Given the description of an element on the screen output the (x, y) to click on. 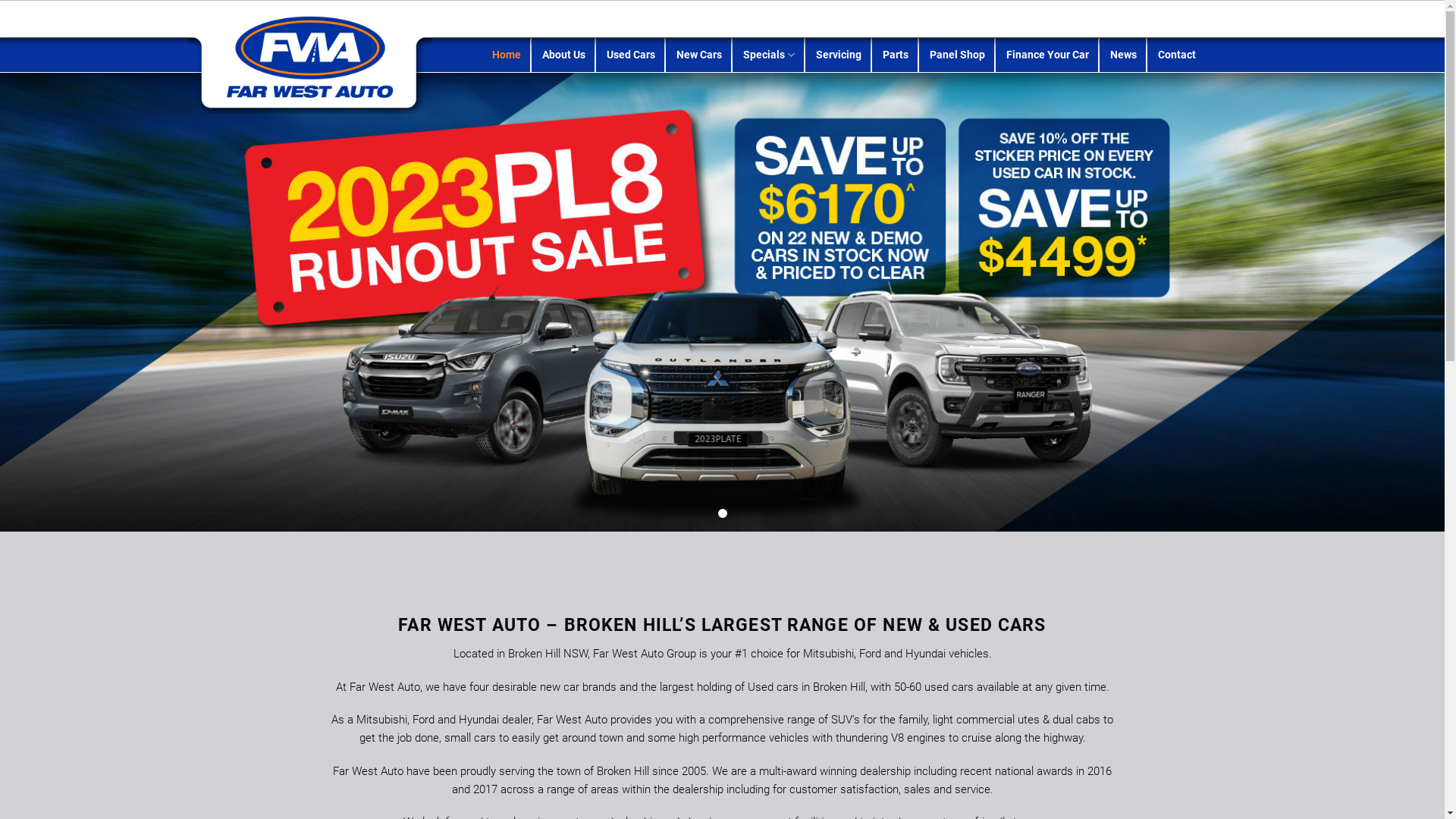
Used Cars Element type: text (630, 54)
New Cars Element type: text (698, 54)
Specials Element type: text (768, 54)
About Us Element type: text (563, 54)
Parts Element type: text (895, 54)
Servicing Element type: text (838, 54)
Panel Shop Element type: text (957, 54)
News Element type: text (1123, 54)
Finance Your Car Element type: text (1047, 54)
Home Element type: text (506, 54)
Contact Element type: text (1176, 54)
